Given the description of an element on the screen output the (x, y) to click on. 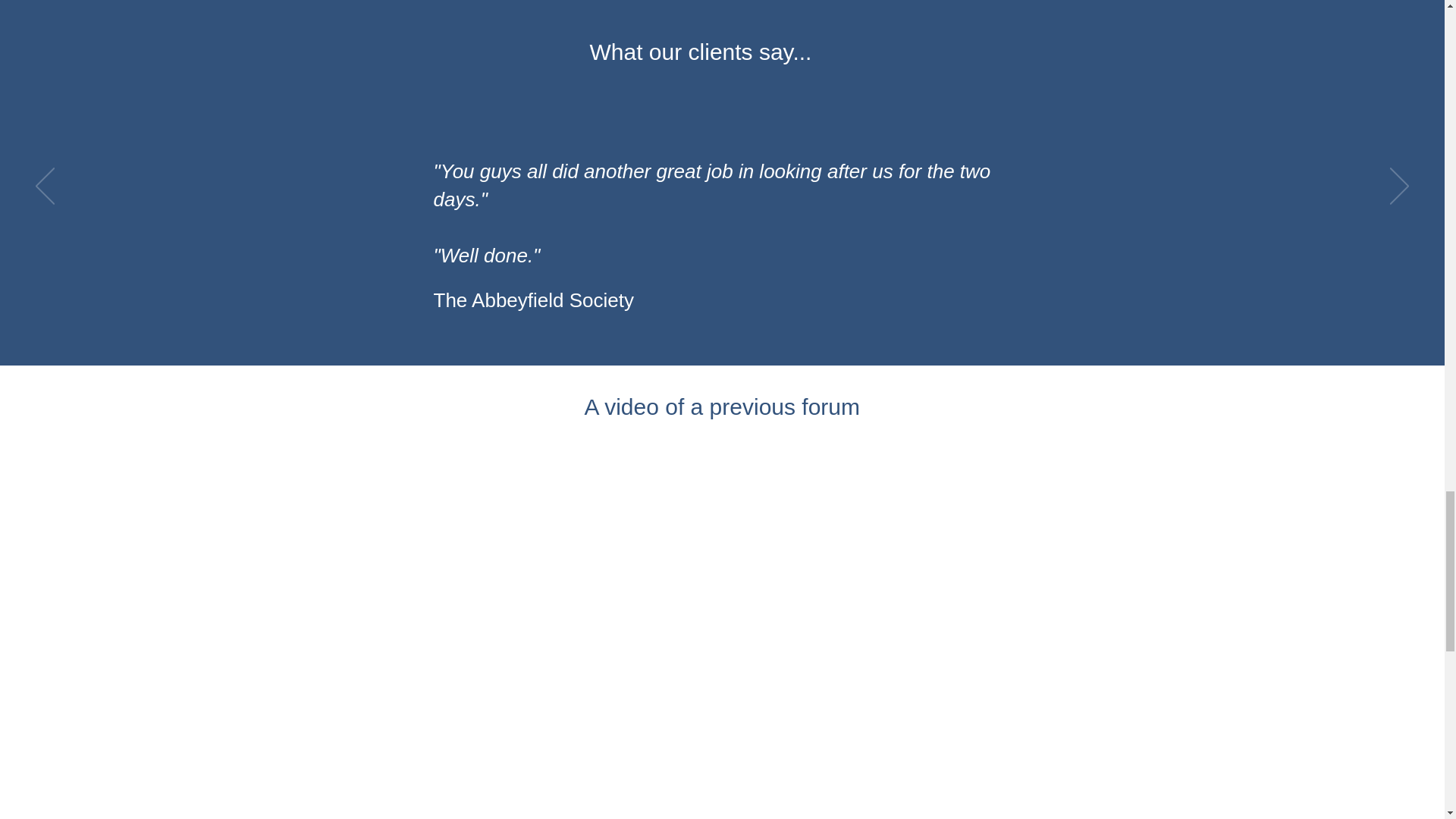
The Abbeyfield Society (533, 300)
